Given the description of an element on the screen output the (x, y) to click on. 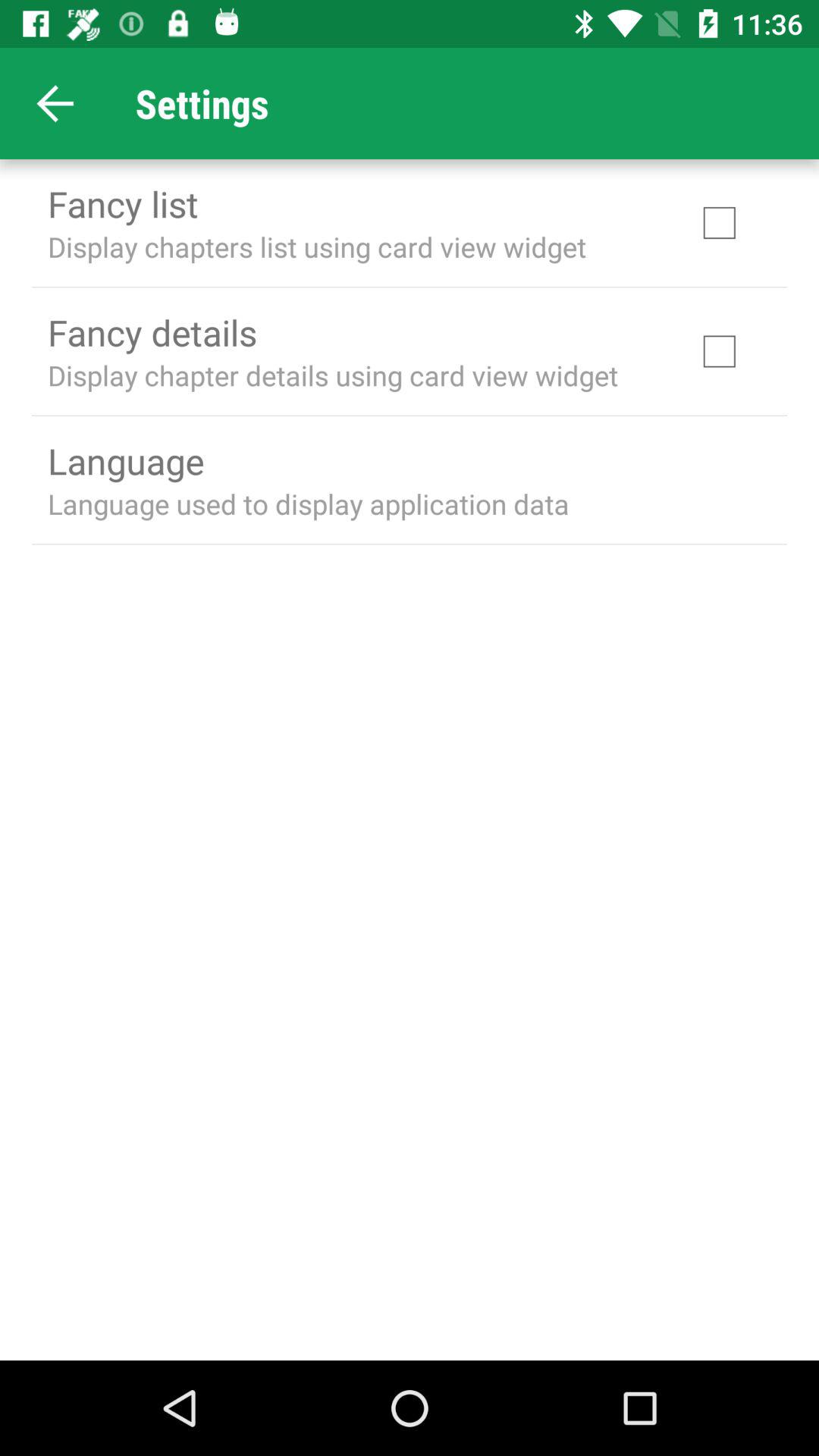
turn off the item at the center (308, 503)
